Given the description of an element on the screen output the (x, y) to click on. 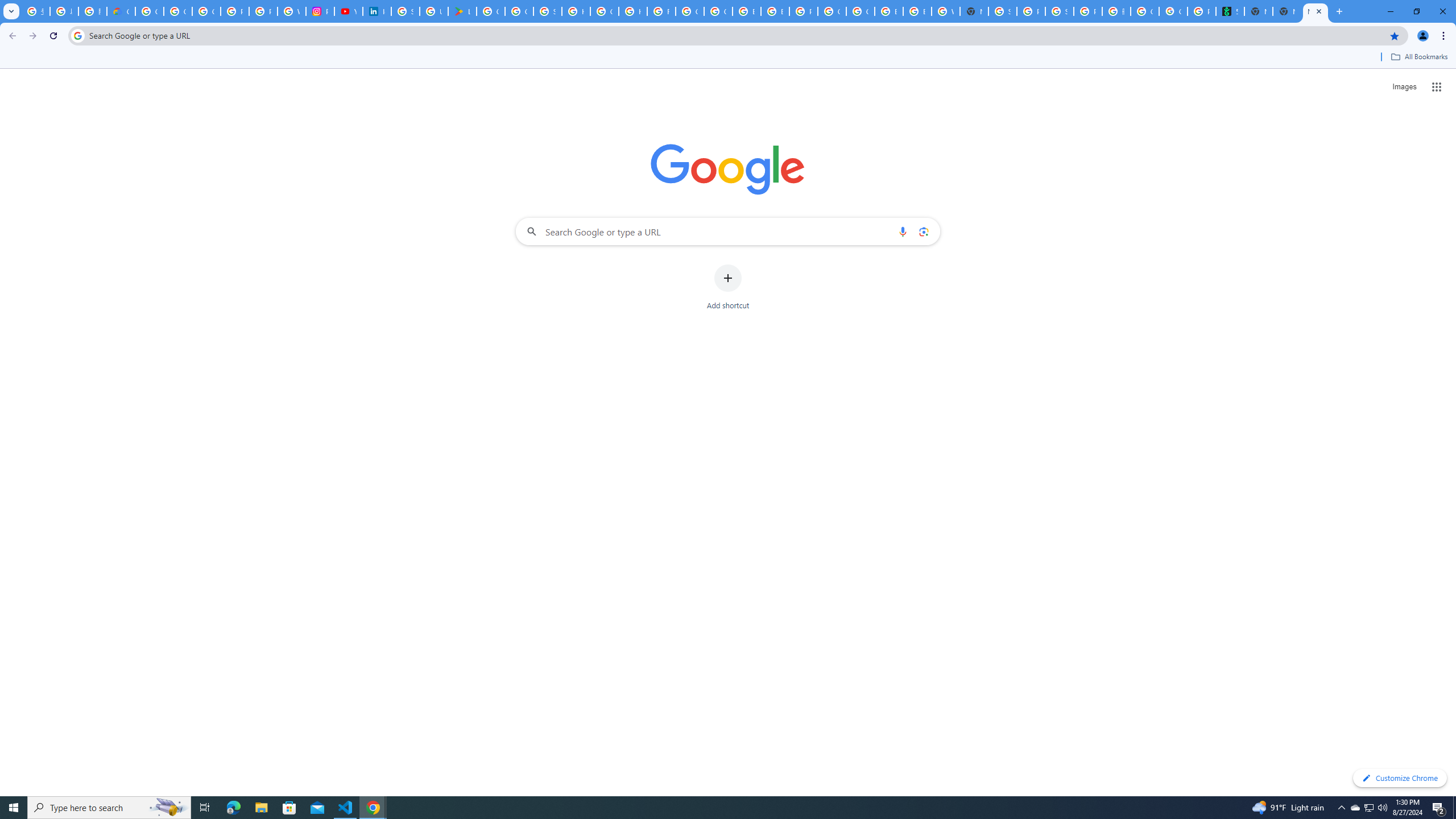
Browse Chrome as a guest - Computer - Google Chrome Help (746, 11)
Sign in - Google Accounts (1002, 11)
Add shortcut (727, 287)
Google Workspace - Specific Terms (518, 11)
